Given the description of an element on the screen output the (x, y) to click on. 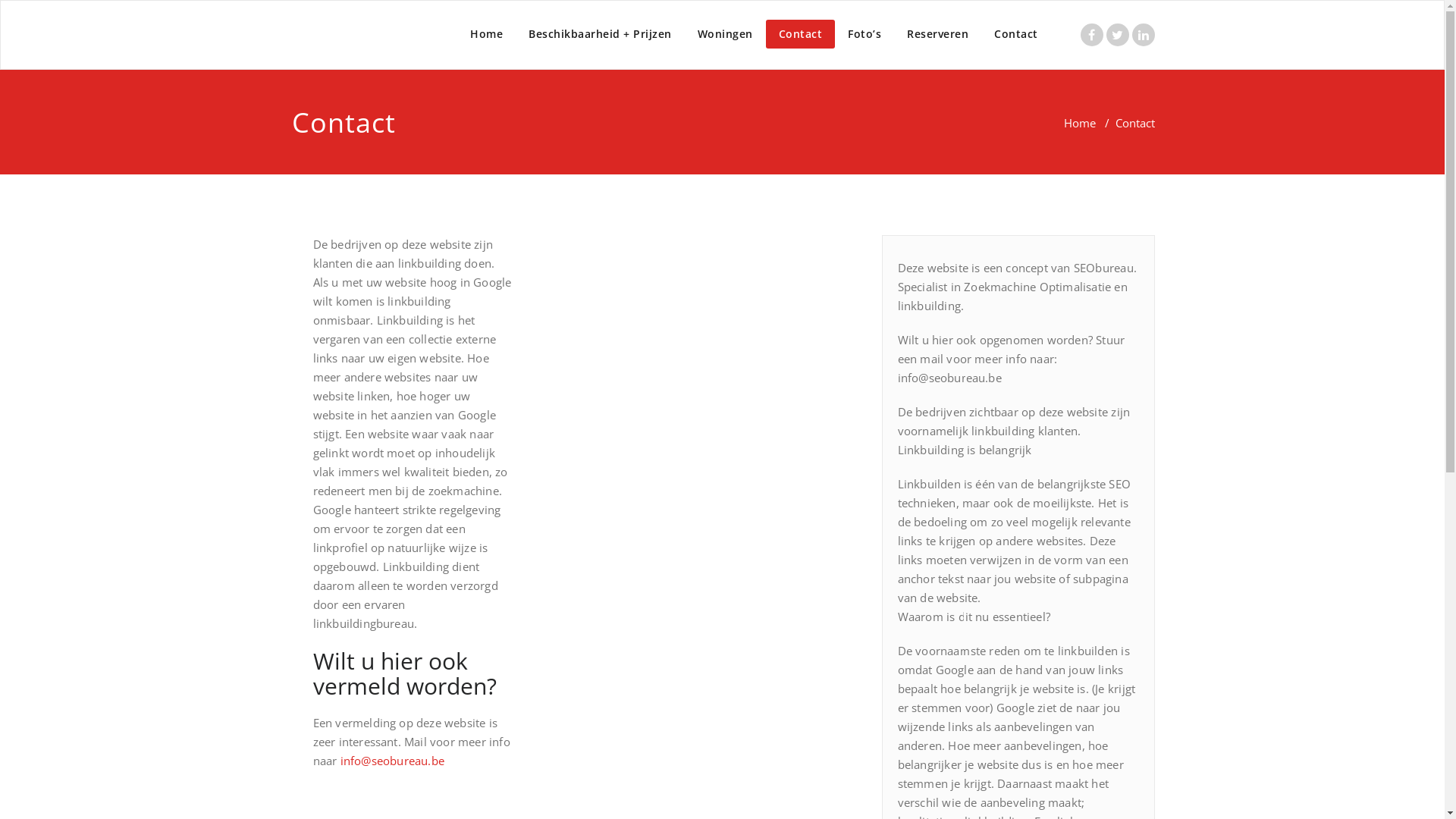
Home Element type: text (486, 33)
Beschikbaarheid + Prijzen Element type: text (599, 33)
Contact Element type: text (800, 33)
Home Element type: text (1079, 122)
info@seobureau.be Element type: text (390, 760)
Contact Element type: text (1016, 33)
Reserveren Element type: text (937, 33)
Woningen Element type: text (724, 33)
